Given the description of an element on the screen output the (x, y) to click on. 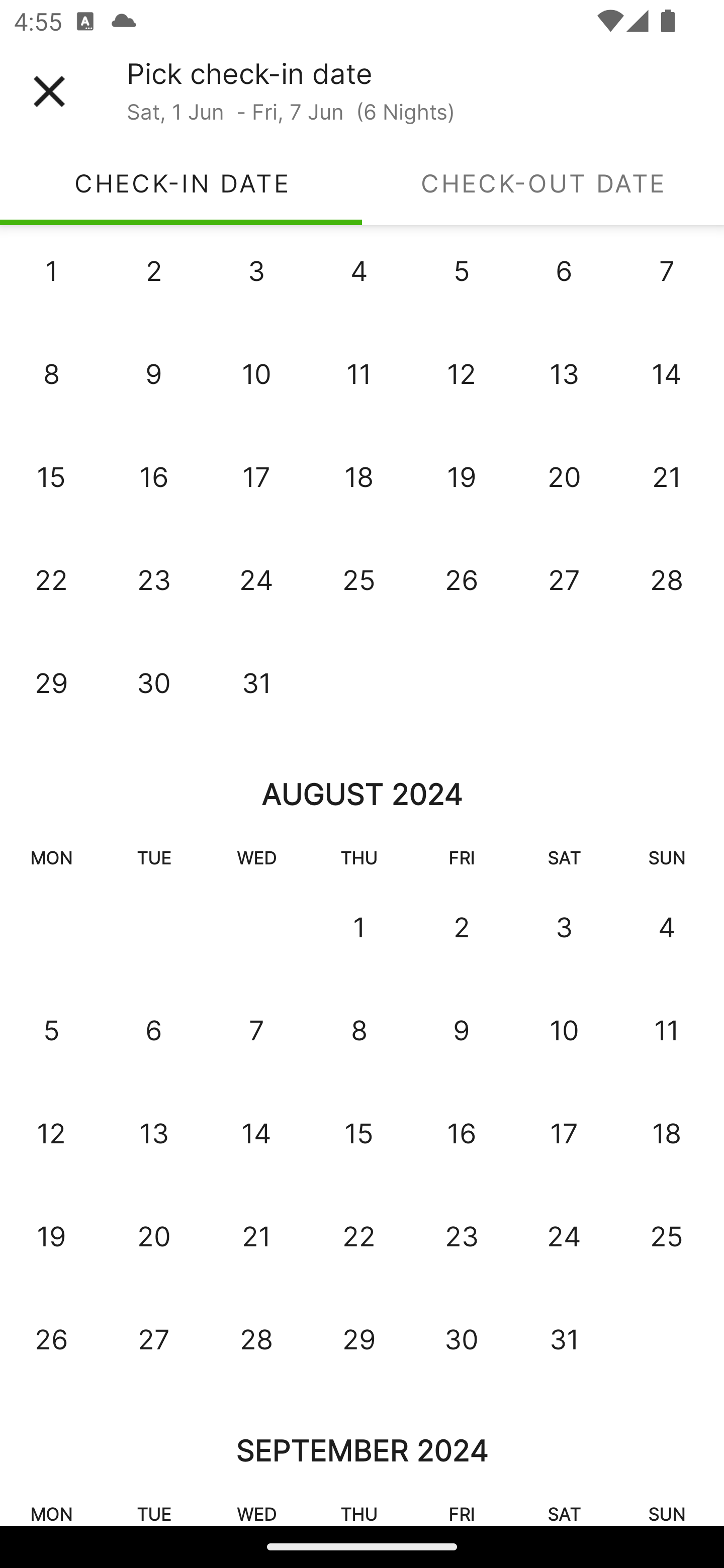
Check-out Date CHECK-OUT DATE (543, 183)
